Given the description of an element on the screen output the (x, y) to click on. 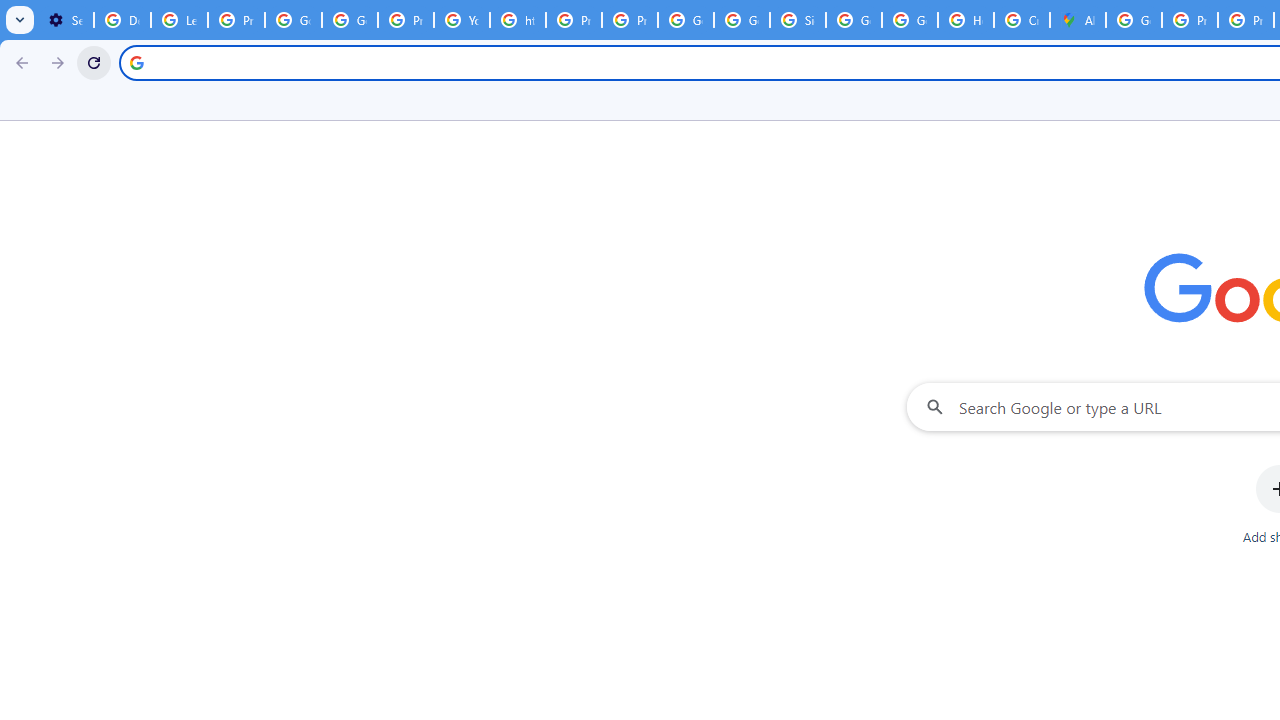
Delete photos & videos - Computer - Google Photos Help (122, 20)
YouTube (461, 20)
https://scholar.google.com/ (518, 20)
Google Account Help (349, 20)
Privacy Help Center - Policies Help (573, 20)
Privacy Help Center - Policies Help (1190, 20)
Create your Google Account (1021, 20)
